Given the description of an element on the screen output the (x, y) to click on. 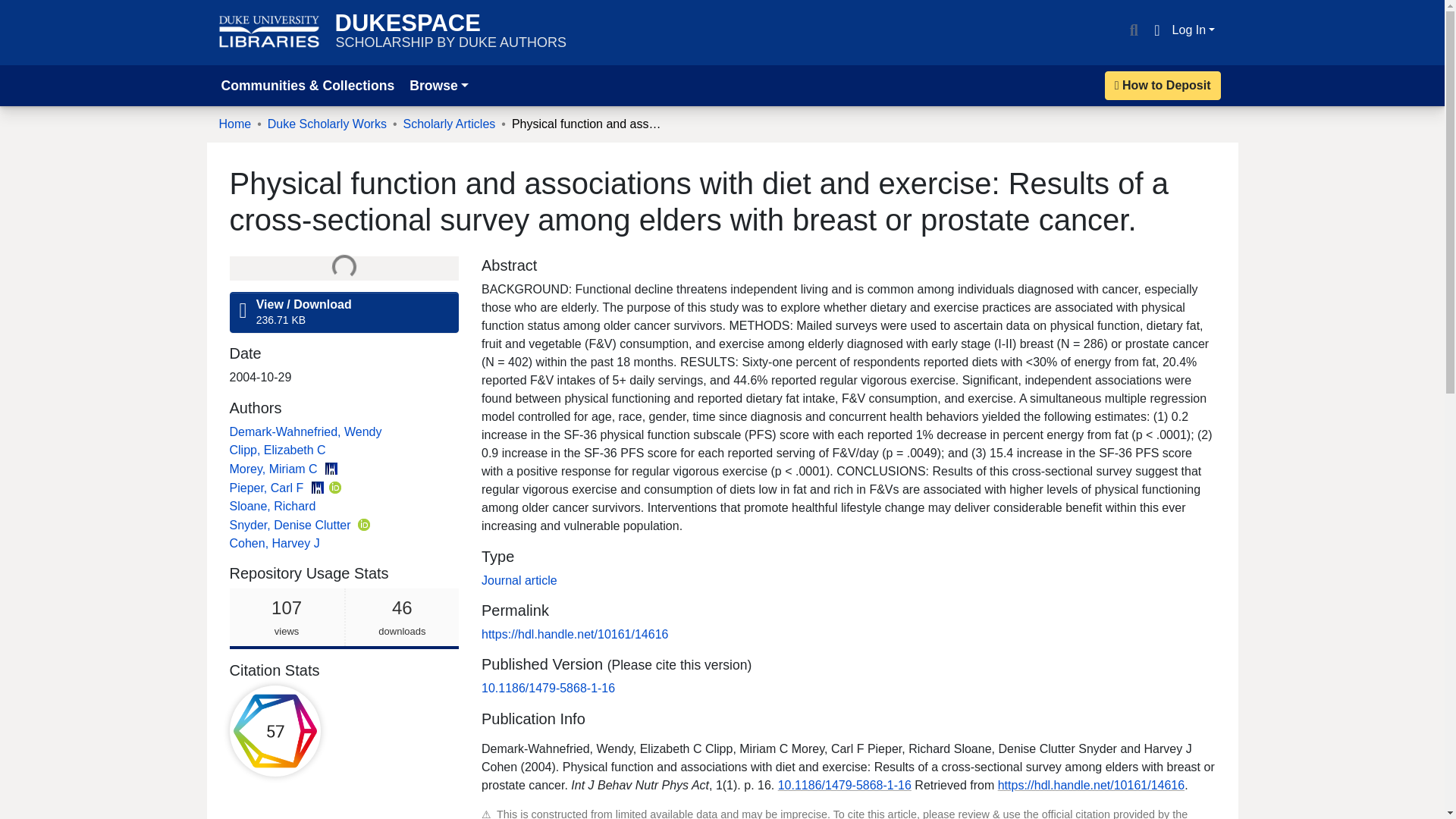
How to Deposit (1163, 85)
Journal article (519, 580)
Browse (438, 85)
Language switch (1156, 30)
Sloane, Richard (271, 505)
57 (274, 730)
Snyder, Denise Clutter (343, 618)
Search (290, 524)
Duke Scholarly Works (1133, 30)
Morey, Miriam C (327, 124)
Scholarly Articles (274, 468)
Pieper, Carl F (449, 124)
Cohen, Harvey J (266, 487)
